Given the description of an element on the screen output the (x, y) to click on. 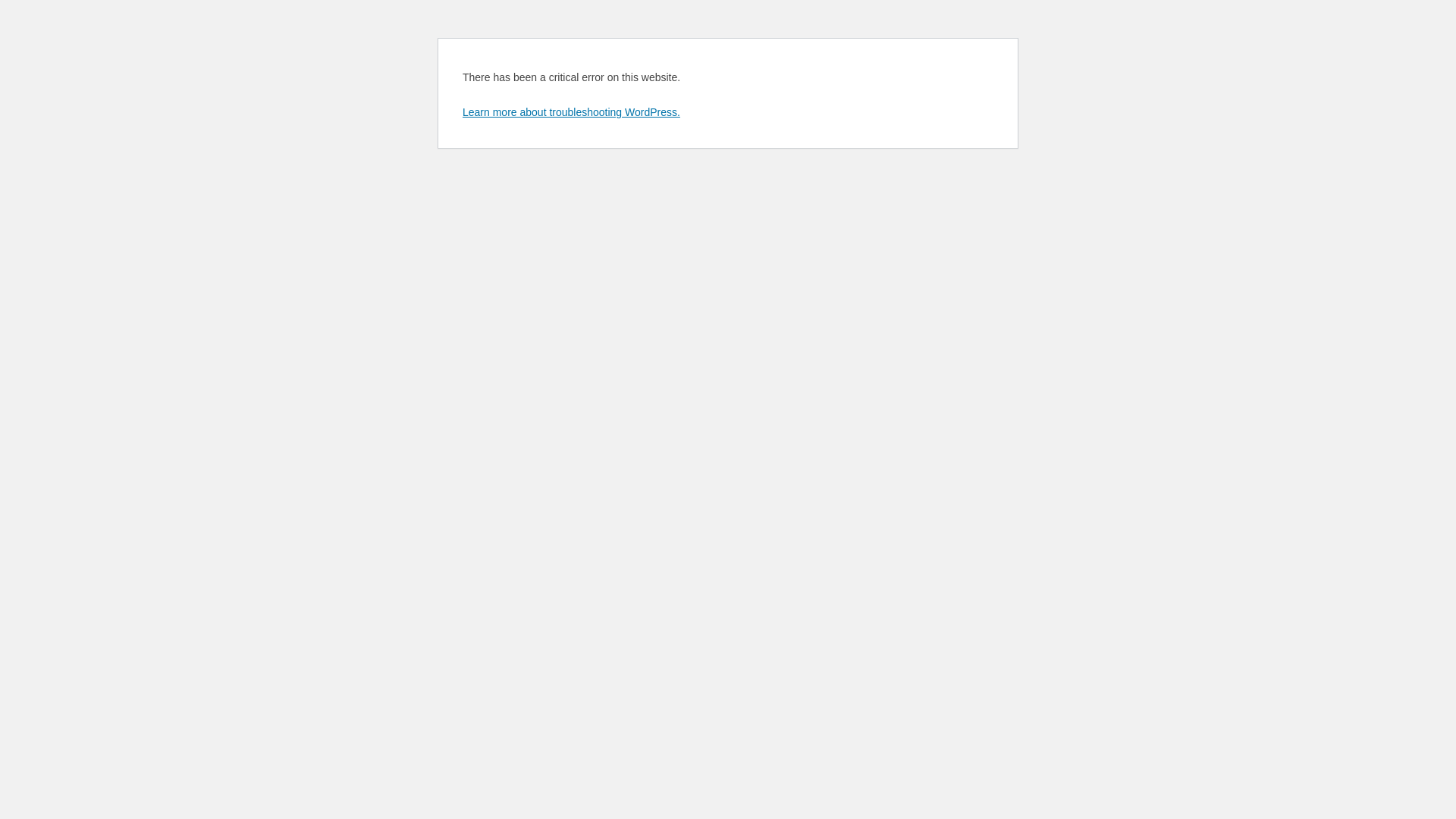
Learn more about troubleshooting WordPress. Element type: text (571, 112)
